Given the description of an element on the screen output the (x, y) to click on. 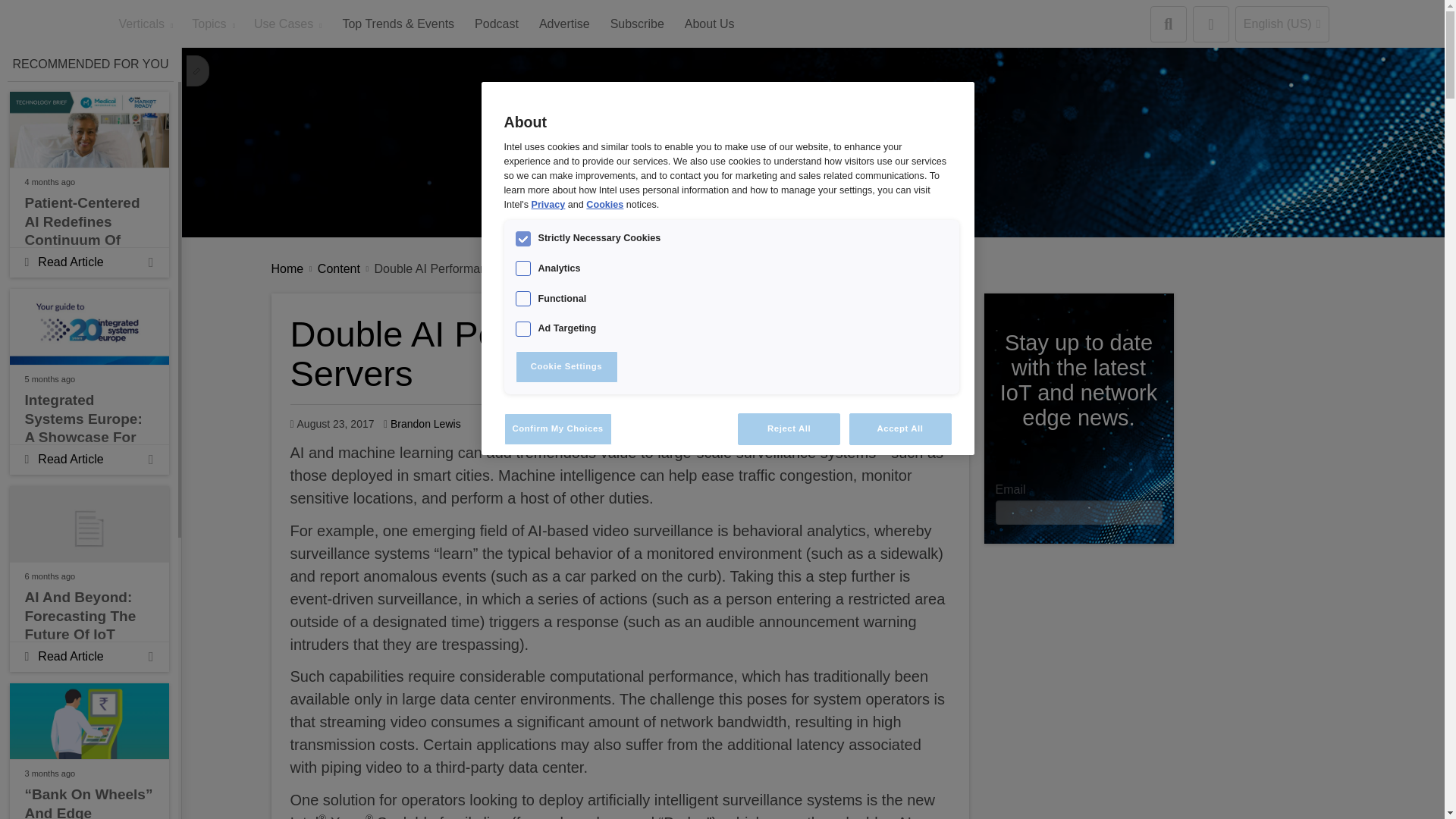
Subscribe (636, 23)
Open Locale Selector Menu (1281, 23)
Share this post: (1210, 23)
Published Date (331, 424)
About Us (709, 23)
Author (422, 424)
Podcast (496, 23)
Share this post: (1210, 23)
Advertise (564, 23)
Open search box (214, 23)
